Given the description of an element on the screen output the (x, y) to click on. 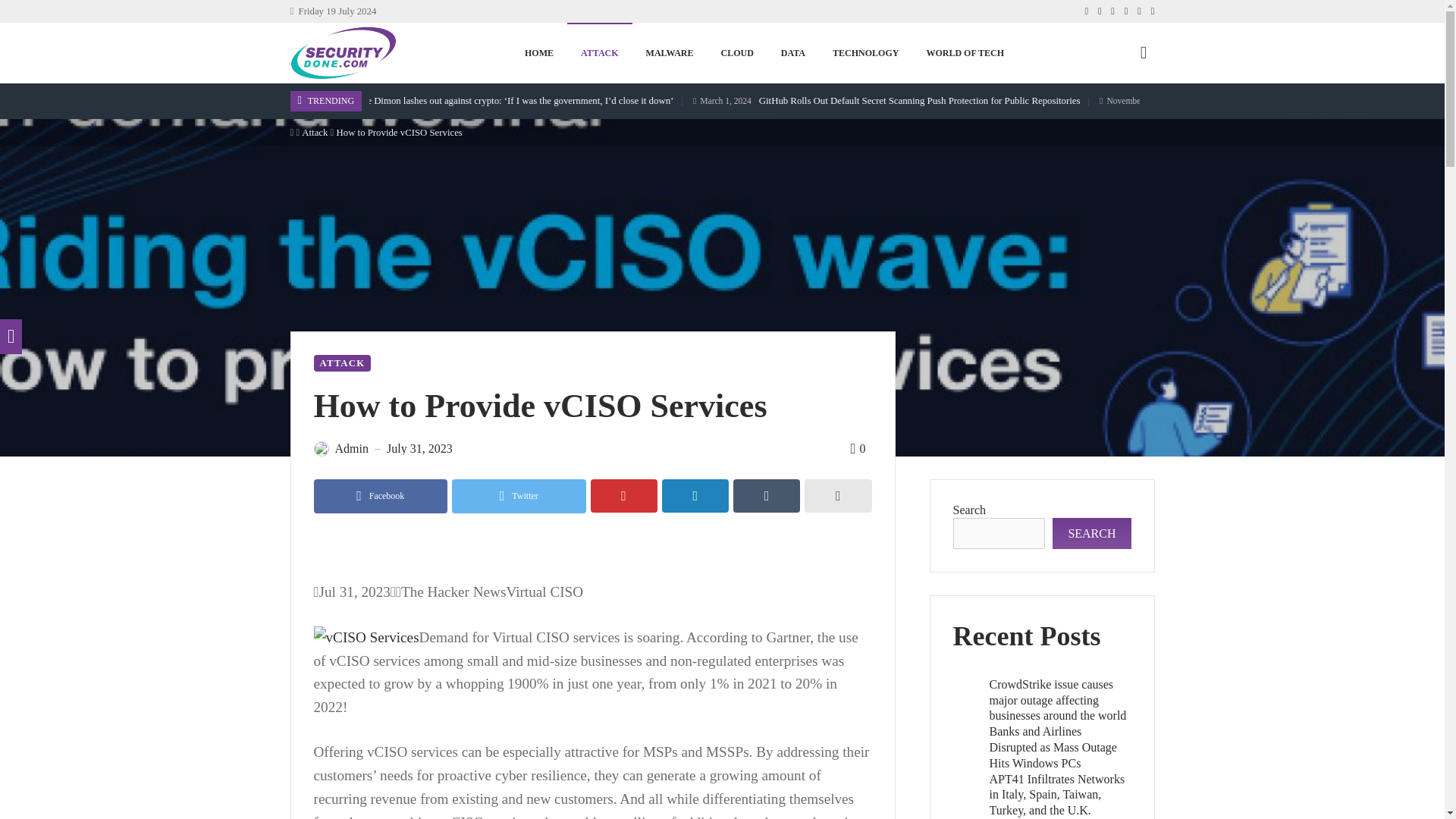
TECHNOLOGY (865, 52)
CLOUD (736, 52)
Securitydone (342, 52)
vCISO Services (366, 638)
WORLD OF TECH (964, 52)
HOME (539, 52)
ATTACK (599, 52)
MALWARE (669, 52)
